Given the description of an element on the screen output the (x, y) to click on. 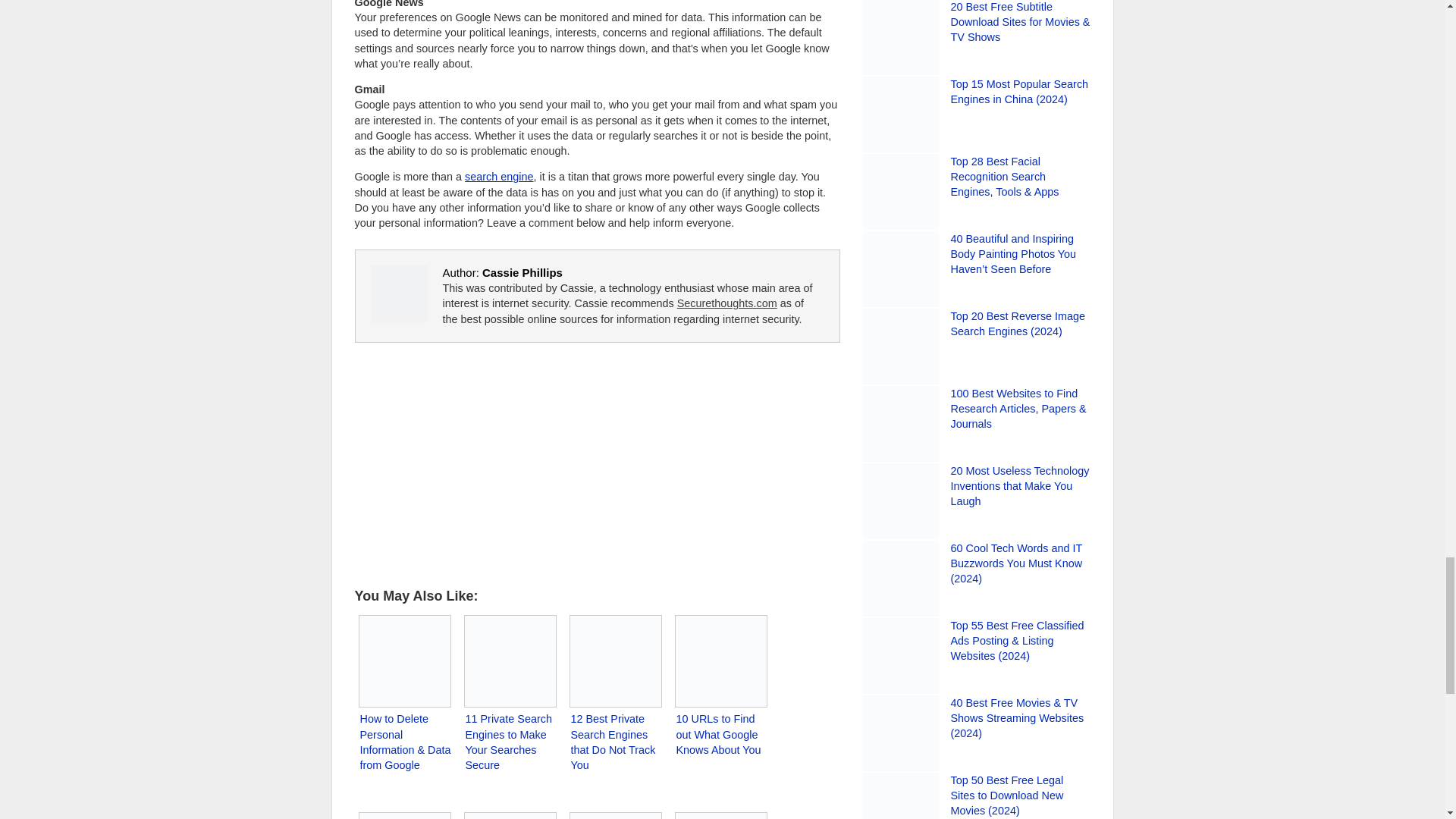
search engine (498, 176)
25 Most Wanted Tips for Private Browsing (403, 813)
25 Most Wanted Tips for Private Browsing (403, 813)
Securethoughts.com (727, 303)
